Given the description of an element on the screen output the (x, y) to click on. 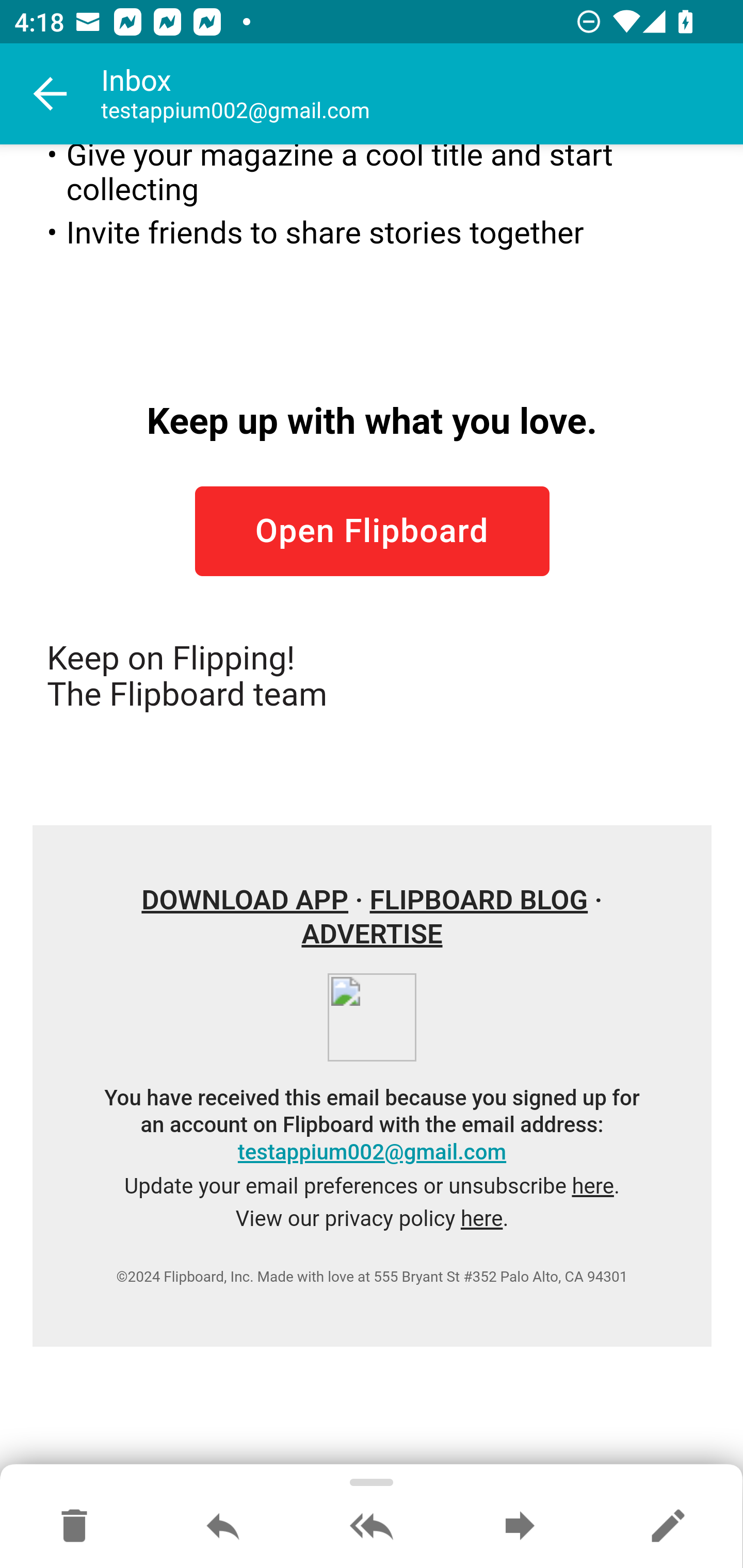
Navigate up (50, 93)
Inbox testappium002@gmail.com (422, 93)
DOWNLOAD APP (245, 899)
FLIPBOARD BLOG (478, 899)
ADVERTISE (371, 934)
testappium002@gmail.com (371, 1152)
here (591, 1185)
here (480, 1218)
Move to Deleted (74, 1527)
Reply (222, 1527)
Reply all (371, 1527)
Forward (519, 1527)
Reply as new (667, 1527)
